Given the description of an element on the screen output the (x, y) to click on. 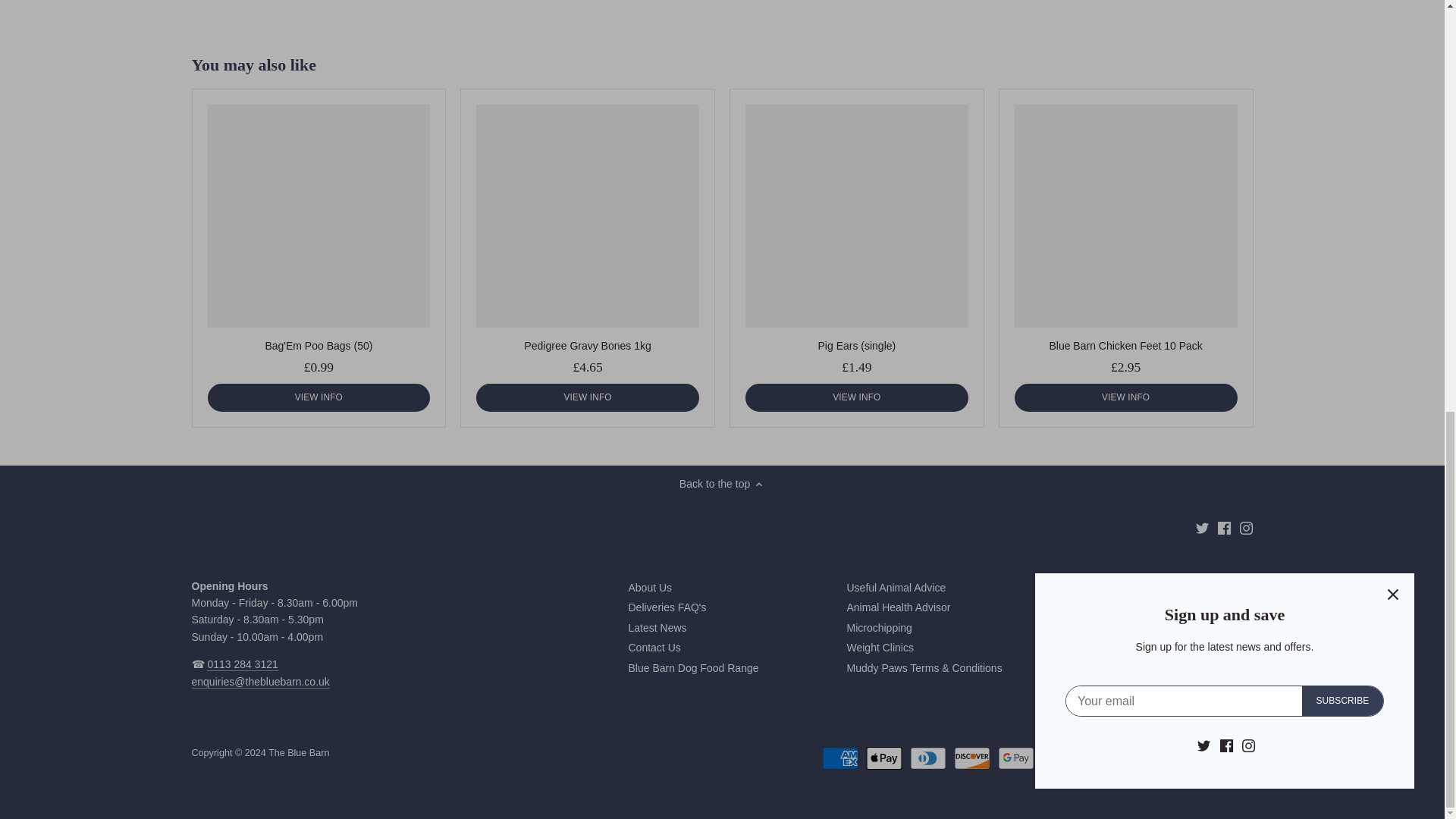
Facebook (1223, 527)
American Express (840, 757)
Instagram (1246, 527)
Twitter (1201, 527)
Apple Pay (884, 757)
